Given the description of an element on the screen output the (x, y) to click on. 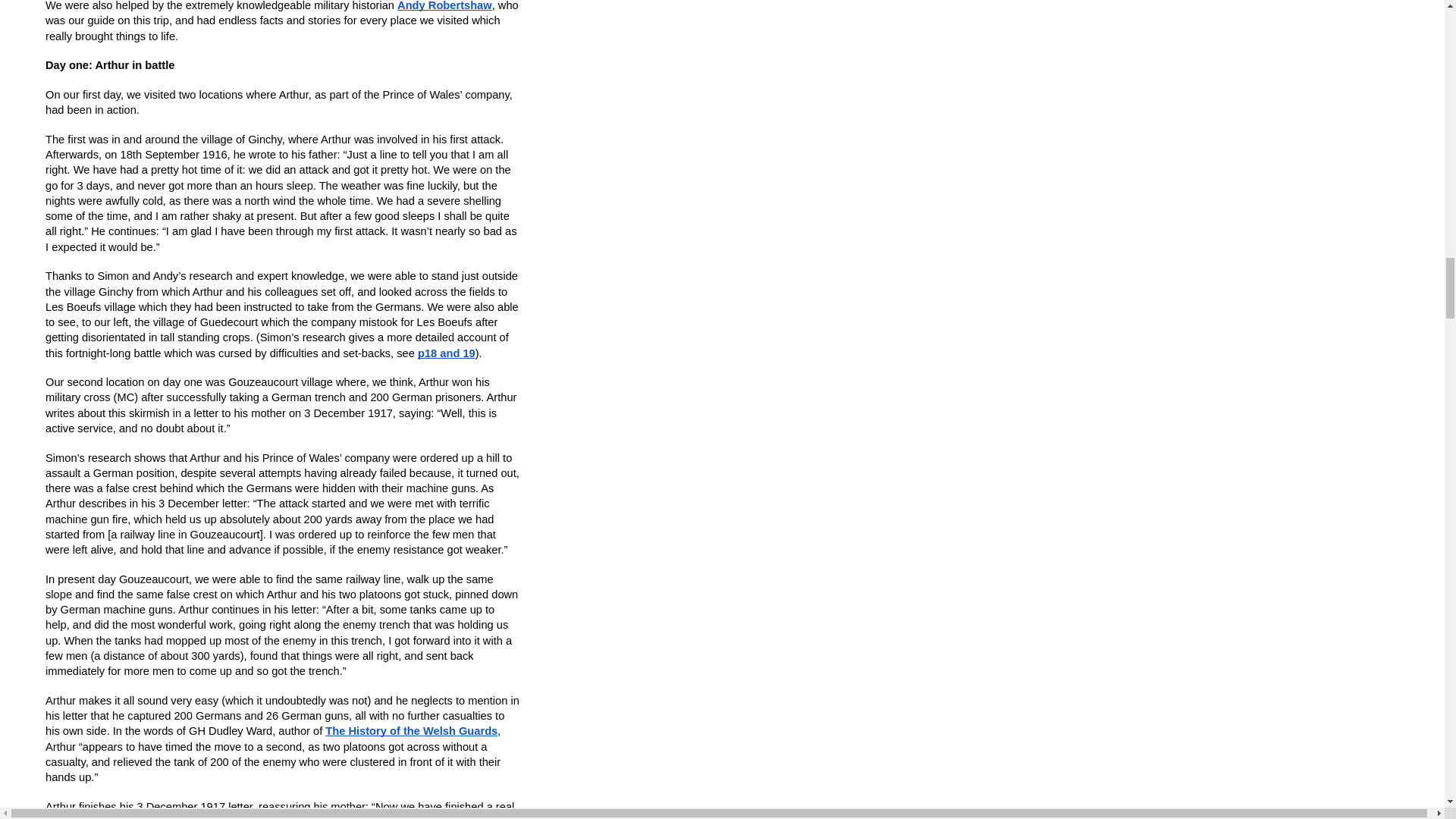
Andy Robertshaw (444, 5)
p18 and 19 (446, 352)
The History of the Welsh Guards (410, 731)
